Given the description of an element on the screen output the (x, y) to click on. 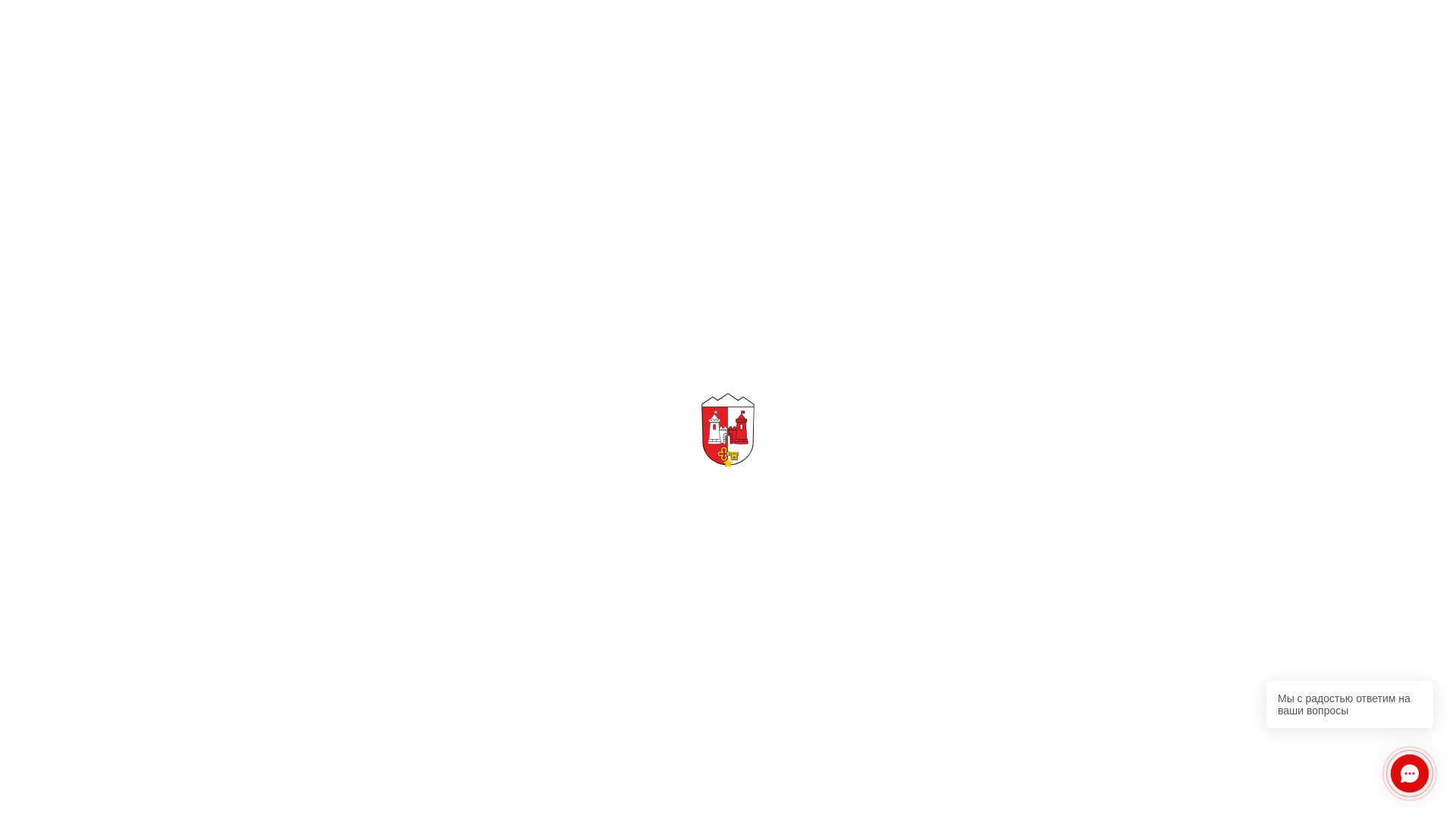
See the service capabilities Element type: text (358, 545)
INTERNET ACQUIRING Element type: text (711, 37)
CONSULTATION Element type: text (451, 415)
BSB Vending Element type: text (1087, 662)
MERCHANT ACQUIRING Element type: text (484, 37)
English Element type: text (1374, 34)
CONNECT Element type: text (311, 415)
BSB Smart-Cashbox Element type: text (368, 662)
DOCUMENTS Element type: text (895, 37)
